Given the description of an element on the screen output the (x, y) to click on. 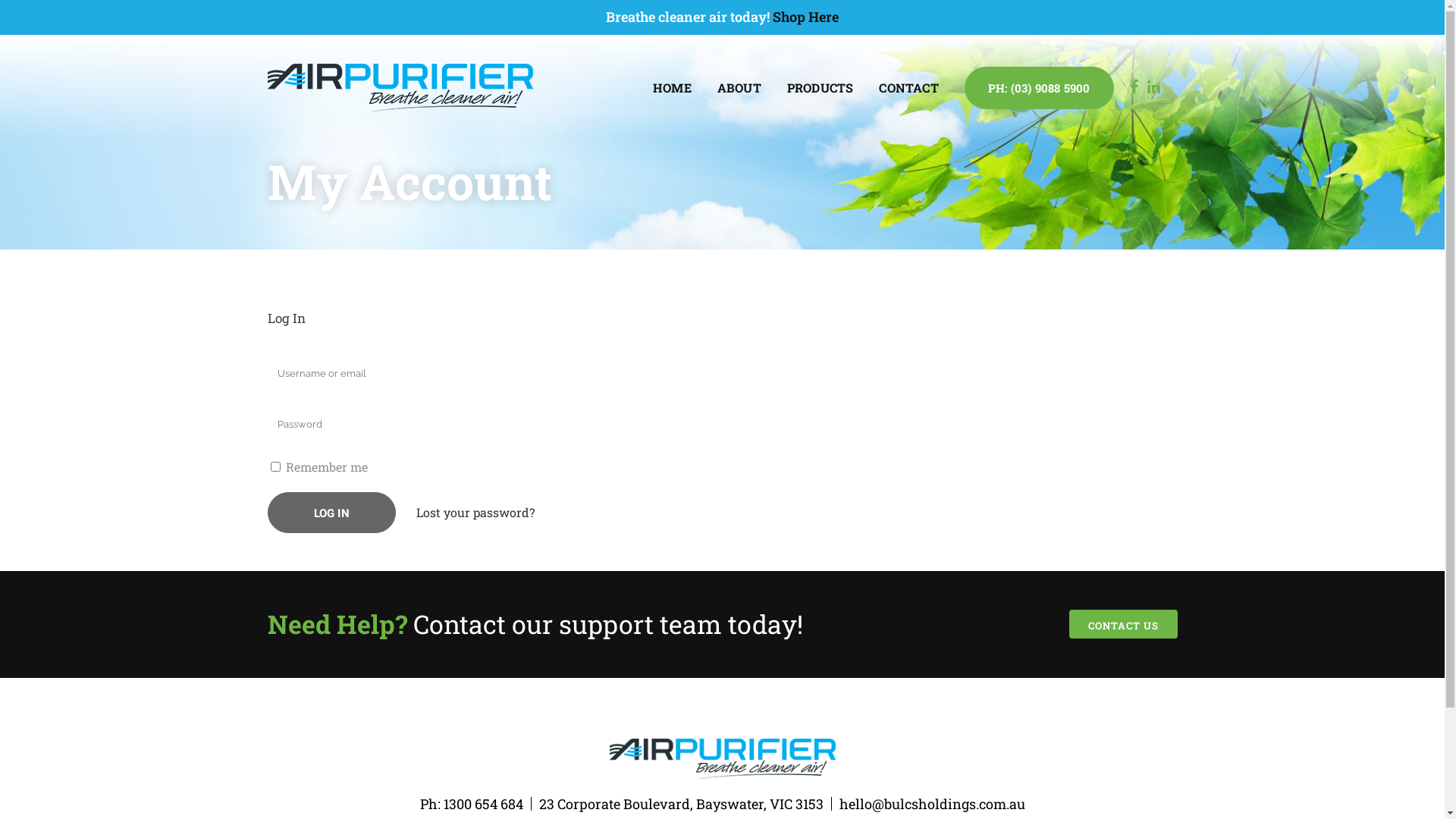
PRODUCTS Element type: text (820, 87)
hello@bulcsholdings.com.au Element type: text (931, 803)
ABOUT Element type: text (739, 87)
Lost your password? Element type: text (475, 512)
PH: (03) 9088 5900 Element type: text (1038, 87)
Shop Here Element type: text (805, 16)
HOME Element type: text (672, 87)
Log In Element type: text (330, 512)
1300 654 684 Element type: text (482, 803)
CONTACT Element type: text (908, 87)
CONTACT US Element type: text (1123, 623)
